Given the description of an element on the screen output the (x, y) to click on. 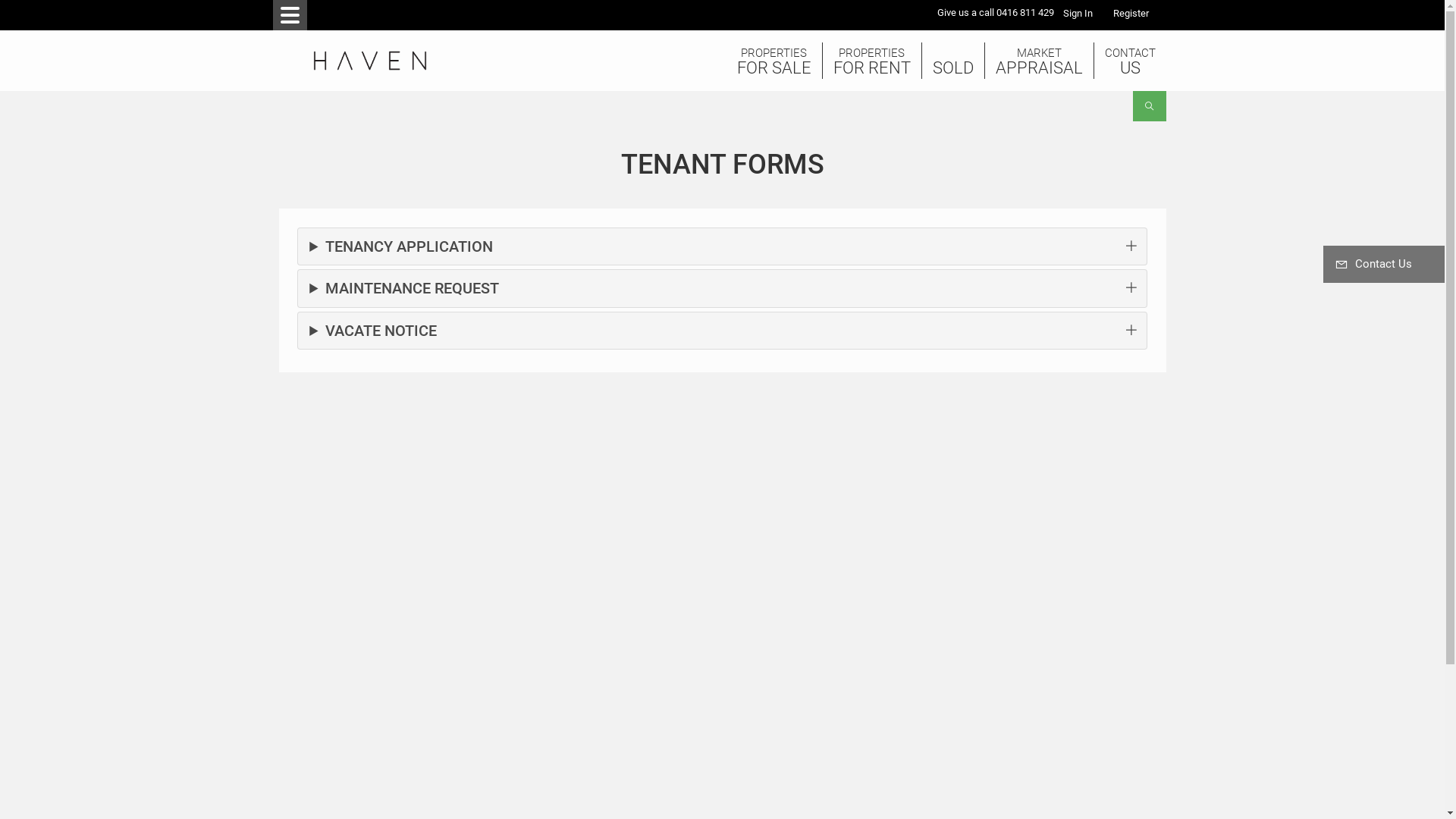
Contact Us Element type: text (1383, 263)
PROPERTIES
FOR SALE Element type: text (774, 60)
MARKET
APPRAISAL Element type: text (1038, 60)
CONTACT
US Element type: text (1129, 60)
PROPERTIES
FOR RENT Element type: text (871, 60)
Select date Element type: hover (696, 419)
? Element type: text (1155, 14)
Sign In Element type: text (1077, 13)
Select date Element type: hover (696, 553)
SOLD Element type: text (953, 60)
Login Element type: text (1124, 14)
Register Element type: text (1130, 13)
Give us a call 0416 811 429 Element type: text (995, 13)
